Given the description of an element on the screen output the (x, y) to click on. 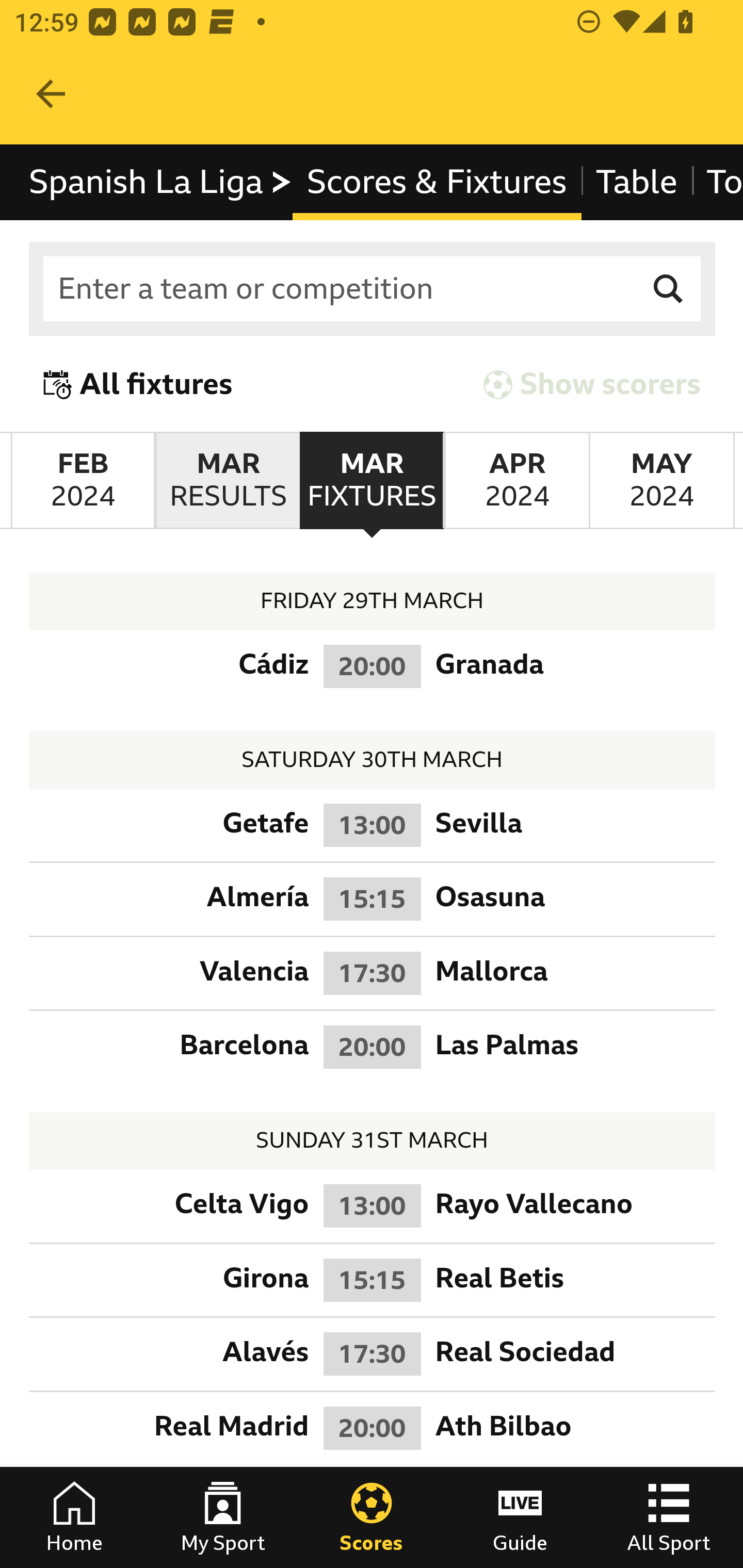
Navigate up (50, 93)
Spanish La Liga  (160, 181)
Scores & Fixtures (435, 181)
Table (636, 181)
Search (669, 289)
All fixtures (137, 383)
Show scorers (591, 383)
February2024 February 2024 (83, 480)
MarchRESULTS March RESULTS (227, 480)
MarchFIXTURES, Selected March FIXTURES , Selected (371, 480)
April2024 April 2024 (516, 480)
May2024 May 2024 (661, 480)
Home (74, 1517)
My Sport (222, 1517)
Guide (519, 1517)
All Sport (668, 1517)
